Given the description of an element on the screen output the (x, y) to click on. 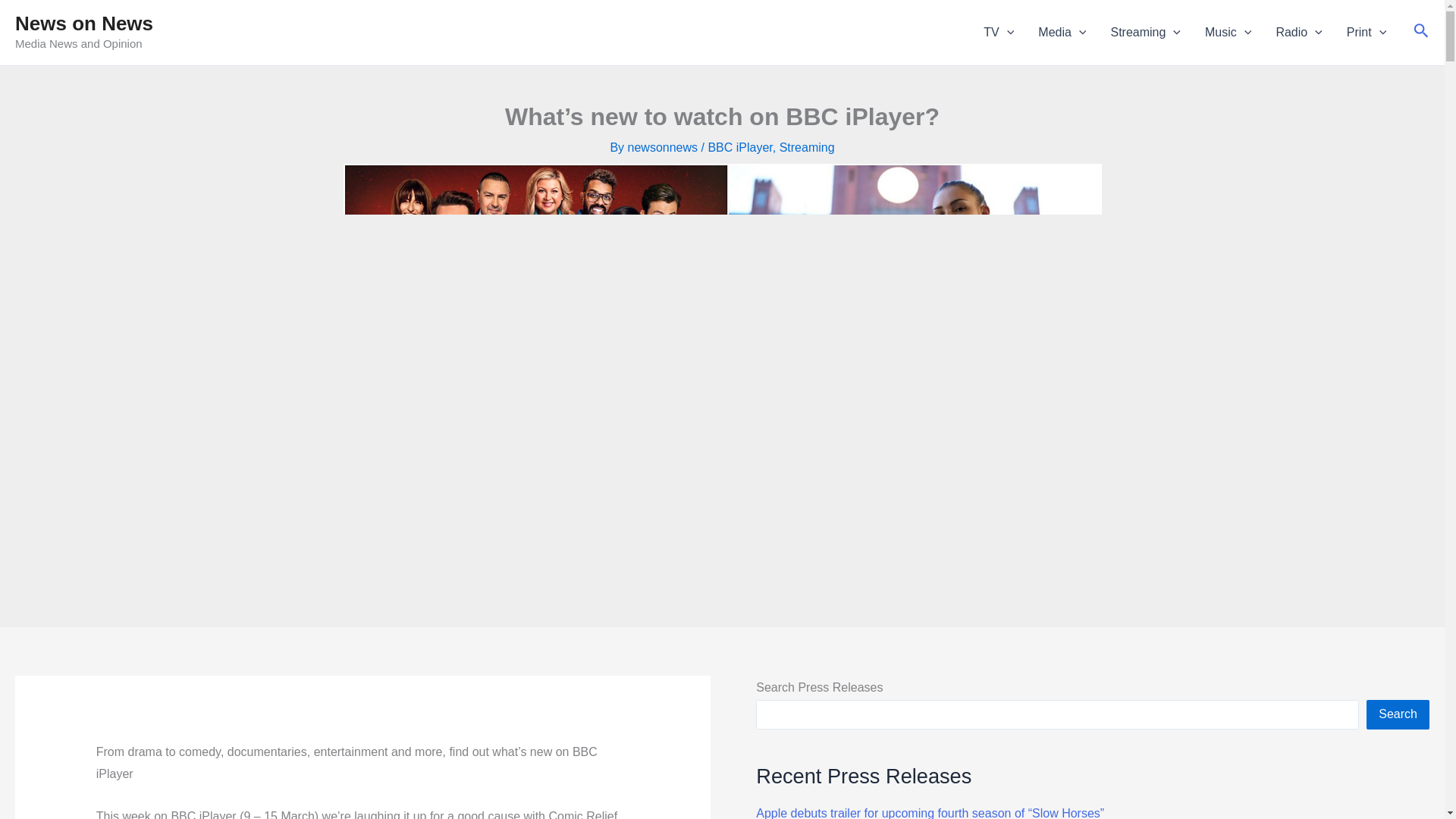
View all posts by newsonnews (664, 146)
Streaming (1144, 32)
Music (1227, 32)
News on News (83, 23)
Media (1061, 32)
TV (998, 32)
